Given the description of an element on the screen output the (x, y) to click on. 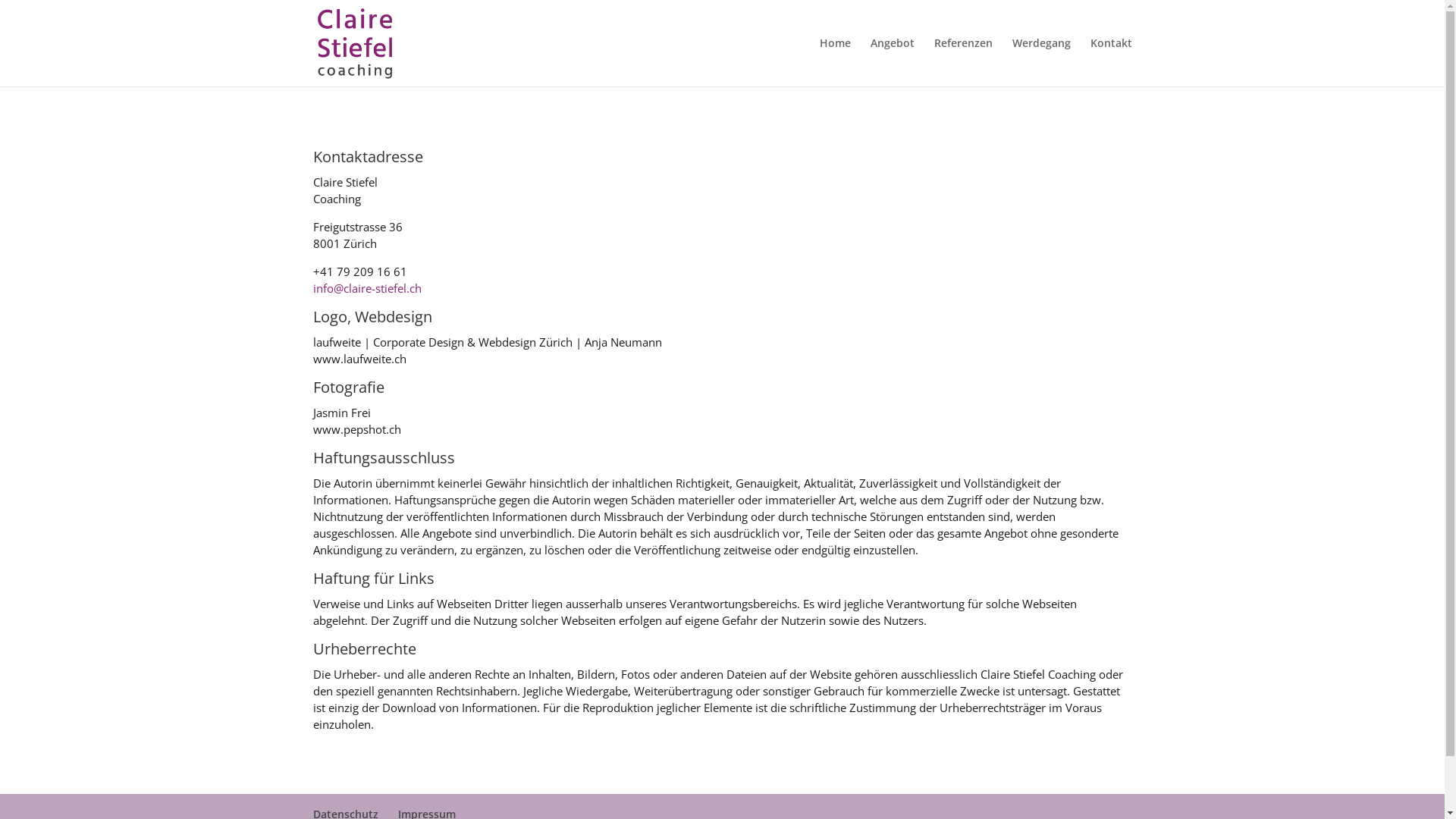
Angebot Element type: text (892, 61)
info@claire-stiefel.ch Element type: text (366, 287)
Home Element type: text (834, 61)
Kontakt Element type: text (1111, 61)
Referenzen Element type: text (963, 61)
Werdegang Element type: text (1040, 61)
